Given the description of an element on the screen output the (x, y) to click on. 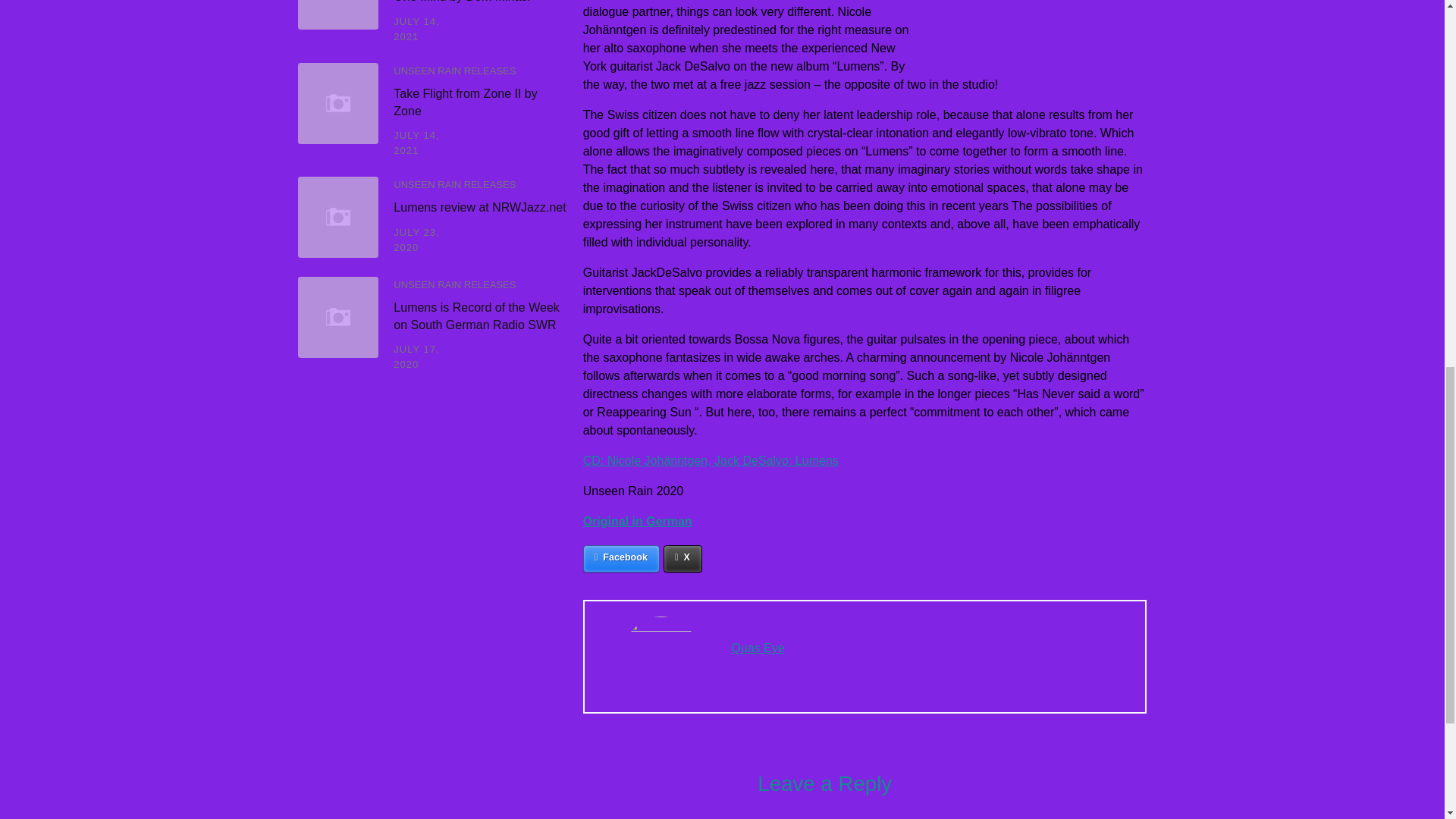
UNSEEN RAIN RELEASES (454, 184)
Share this article on Facebook (621, 558)
Facebook (621, 558)
UNSEEN RAIN RELEASES (454, 70)
Lumens review at NRWJazz.net (479, 206)
Original in German (638, 521)
Take Flight from Zone II by Zone (465, 101)
Quas Eye (757, 647)
UNSEEN RAIN RELEASES (454, 284)
Lumens is Record of the Week on South German Radio SWR (476, 315)
